Given the description of an element on the screen output the (x, y) to click on. 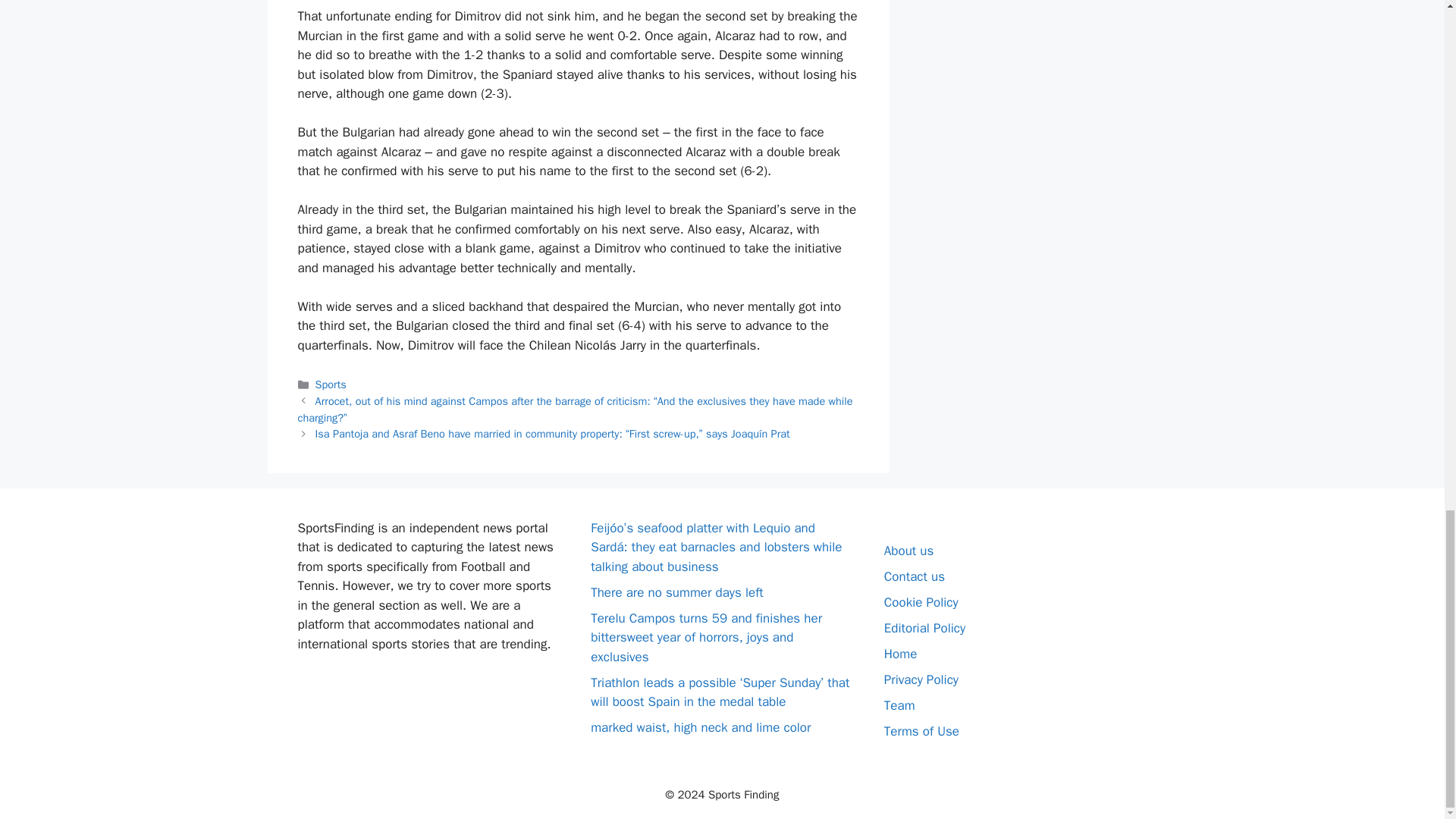
About us (908, 550)
Cookie Policy (920, 602)
Home (900, 653)
Contact us (913, 576)
Sports (330, 384)
marked waist, high neck and lime color (700, 727)
Editorial Policy (924, 627)
There are no summer days left (676, 592)
Scroll back to top (1406, 166)
